Given the description of an element on the screen output the (x, y) to click on. 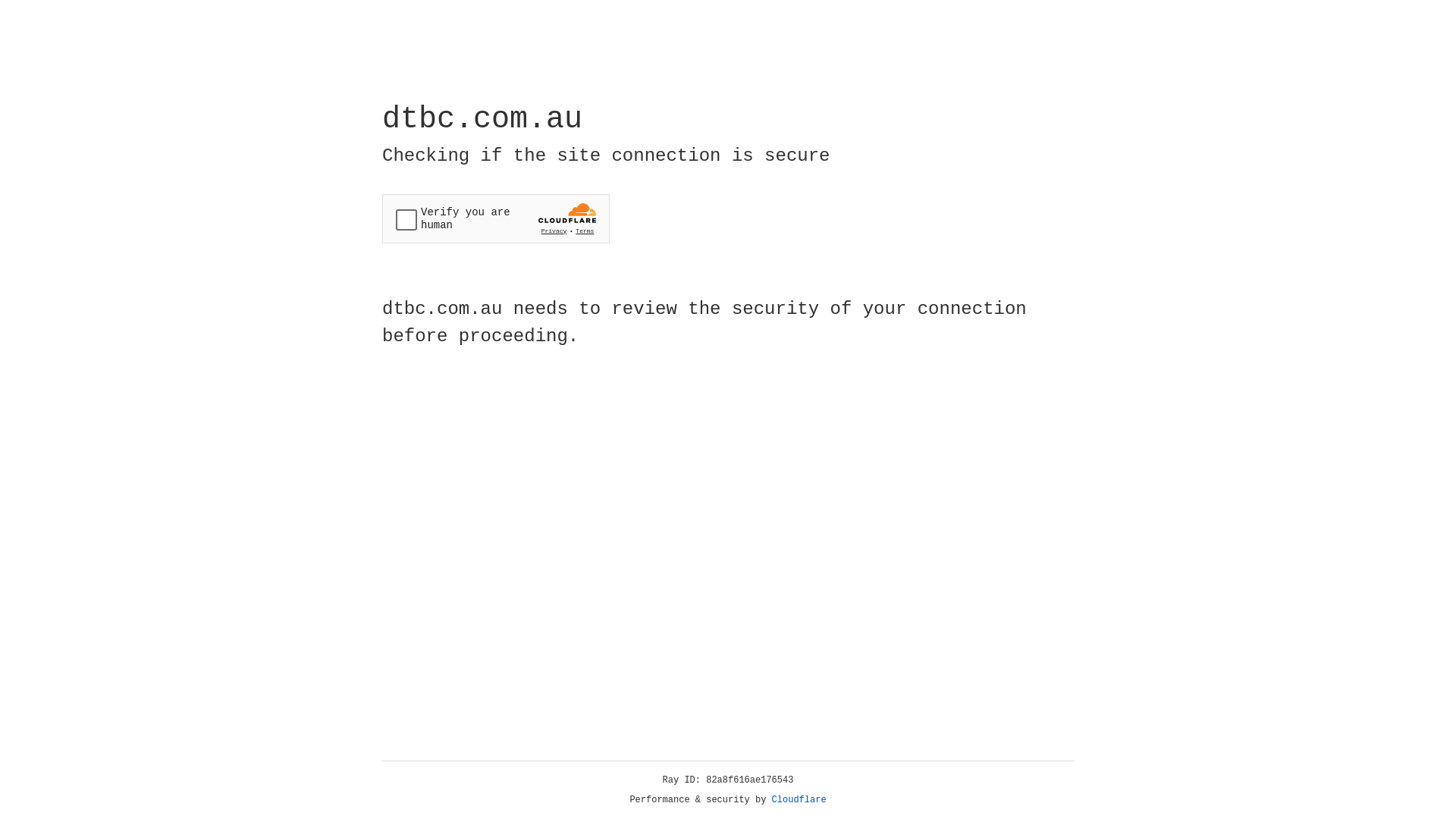
Widget containing a Cloudflare security challenge Element type: hover (495, 218)
Cloudflare Element type: text (798, 799)
